Given the description of an element on the screen output the (x, y) to click on. 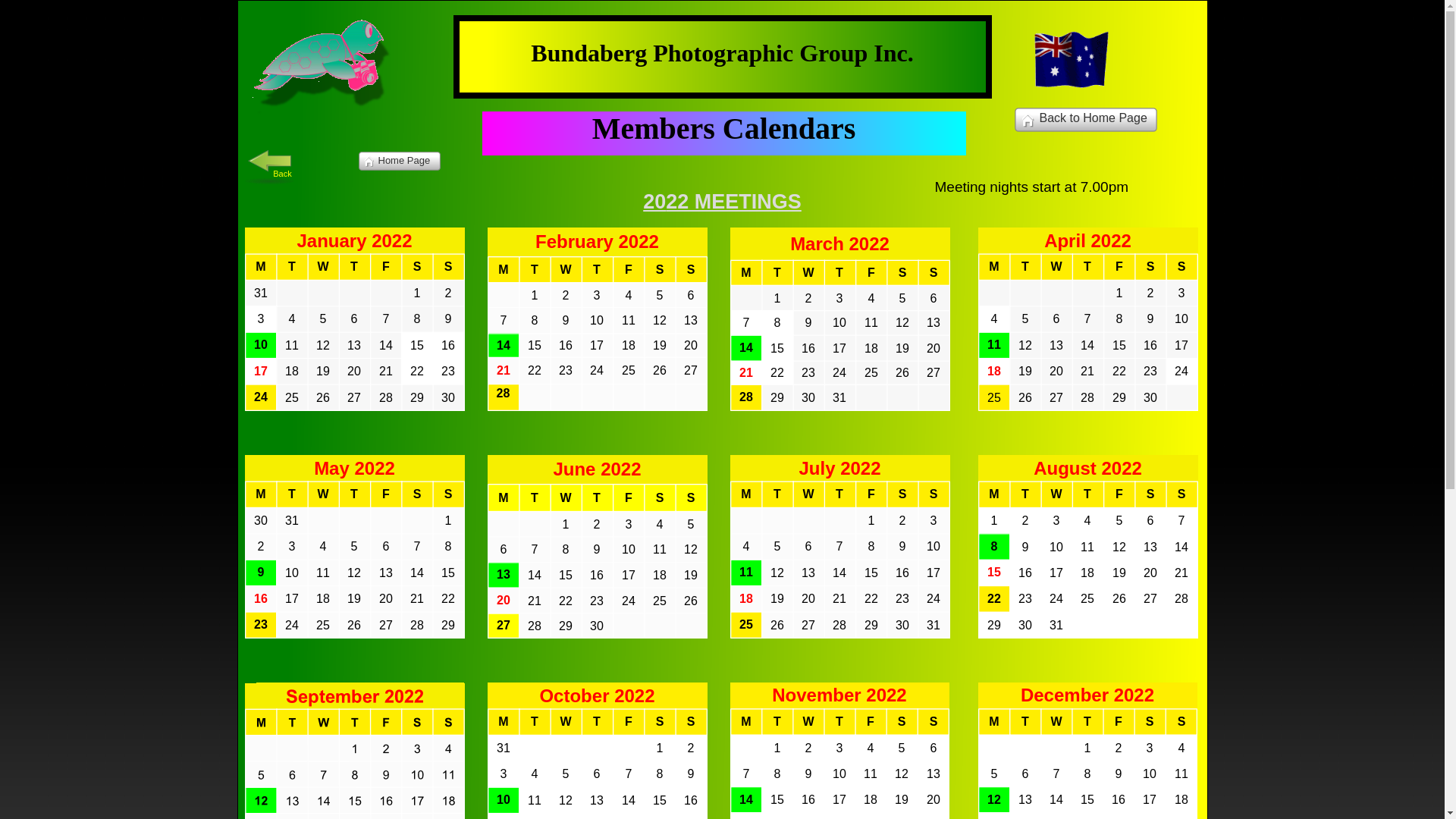
Back to Home Page Element type: text (1085, 119)
Home Page Element type: text (398, 160)
